Given the description of an element on the screen output the (x, y) to click on. 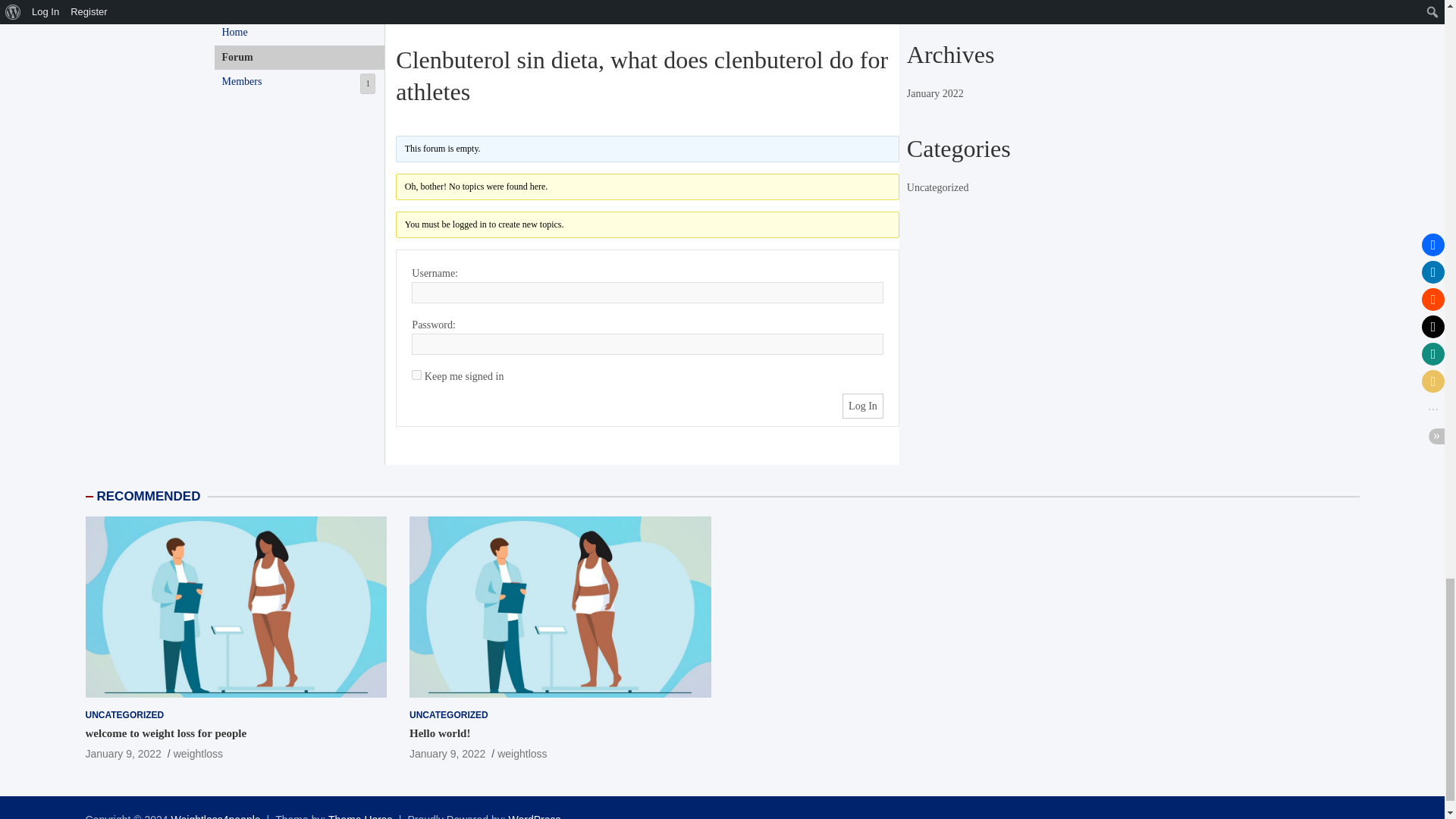
welcome to weight loss for people (122, 753)
weightloss (197, 753)
Forum (299, 57)
welcome to weight loss for people (299, 81)
Log In (165, 733)
forever (863, 405)
Home (417, 375)
UNCATEGORIZED (299, 32)
Hello world! (123, 715)
RECOMMENDED (446, 753)
January 9, 2022 (148, 495)
